Given the description of an element on the screen output the (x, y) to click on. 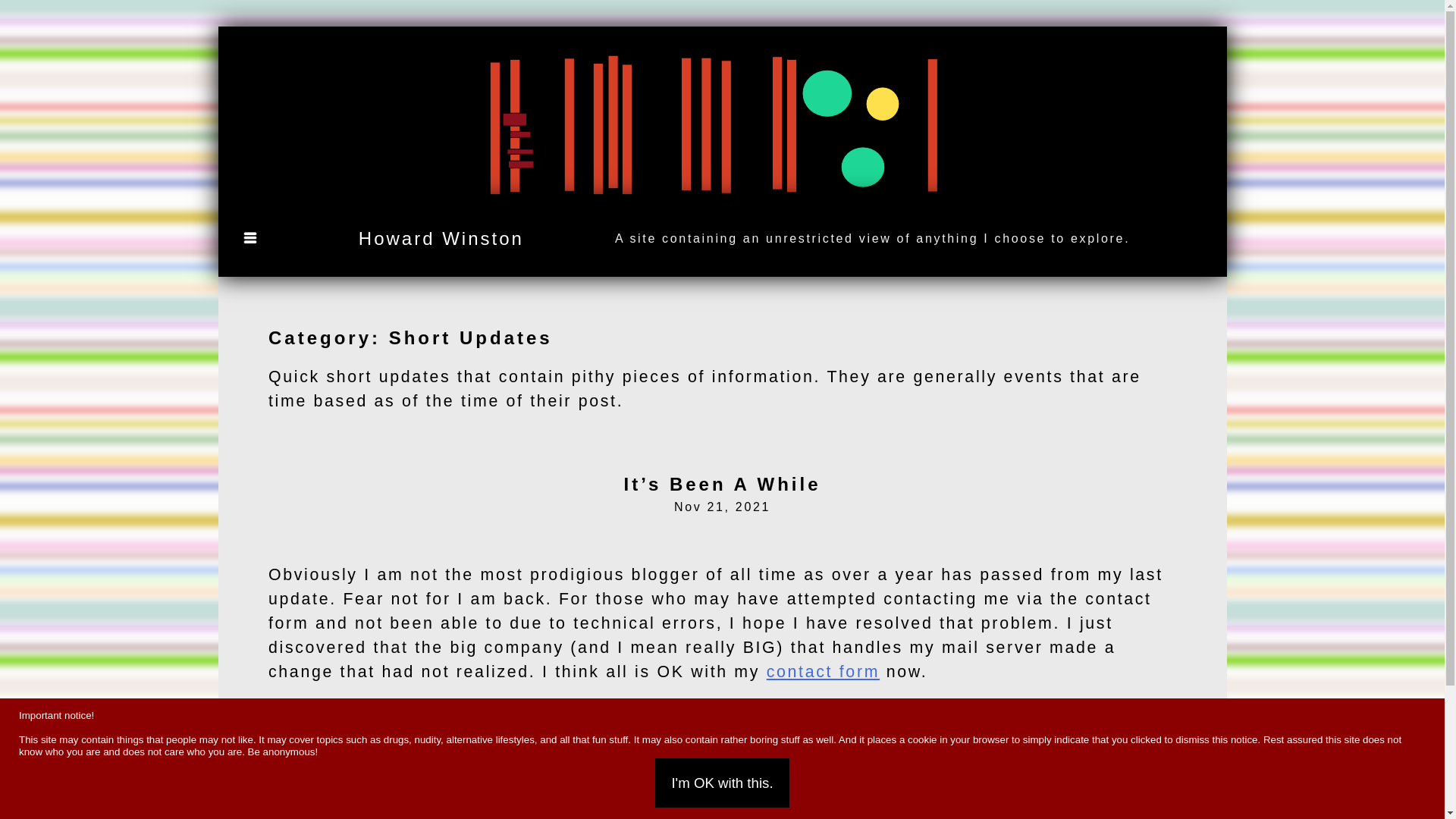
Howard Winston (441, 238)
contact form (823, 671)
I'm OK with this. (722, 782)
Short Updates (323, 756)
